Given the description of an element on the screen output the (x, y) to click on. 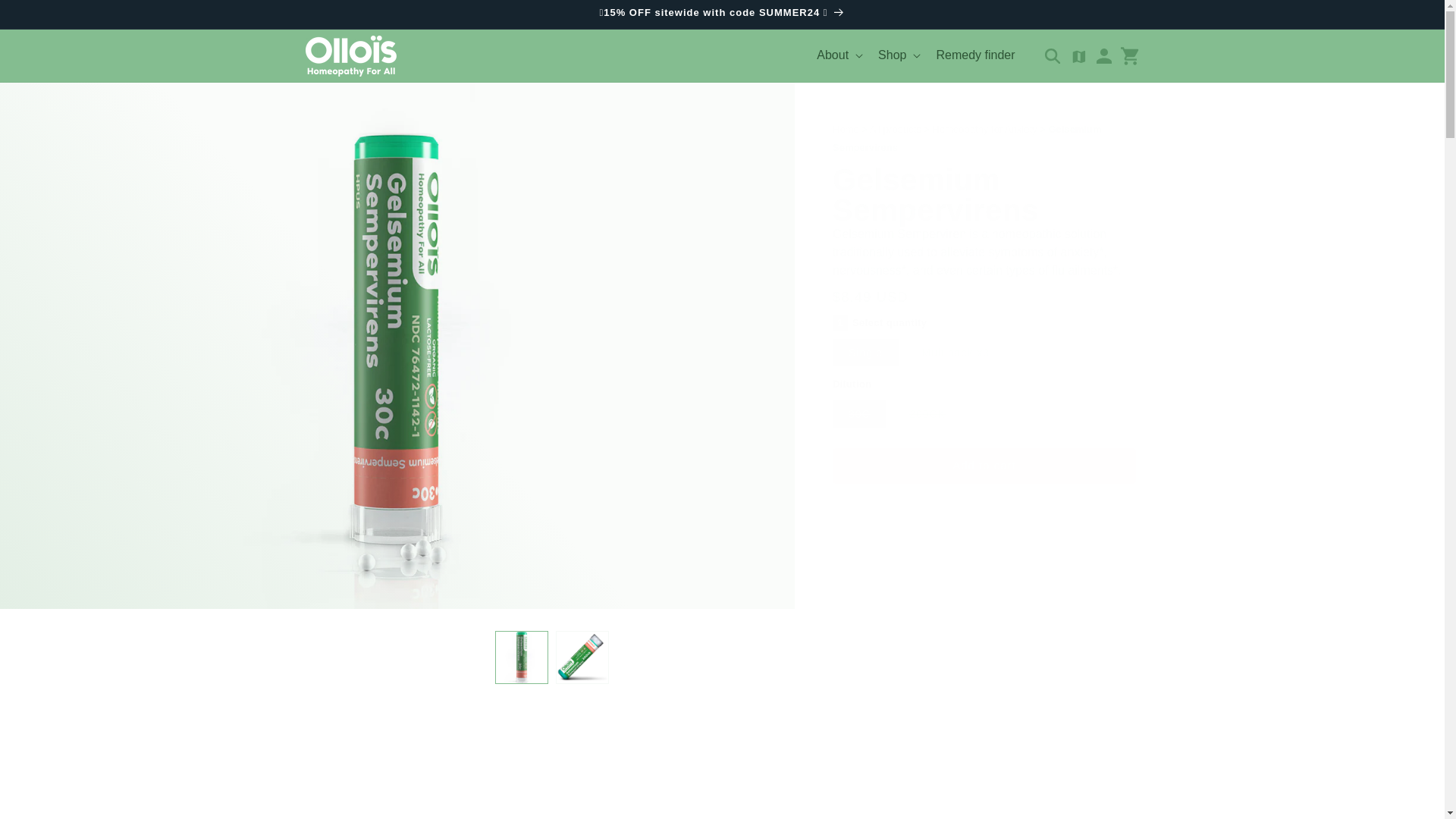
Recycle (534, 773)
Kosher (783, 773)
Skip to content (45, 17)
Vegan (410, 773)
Gluten free (1034, 773)
